Given the description of an element on the screen output the (x, y) to click on. 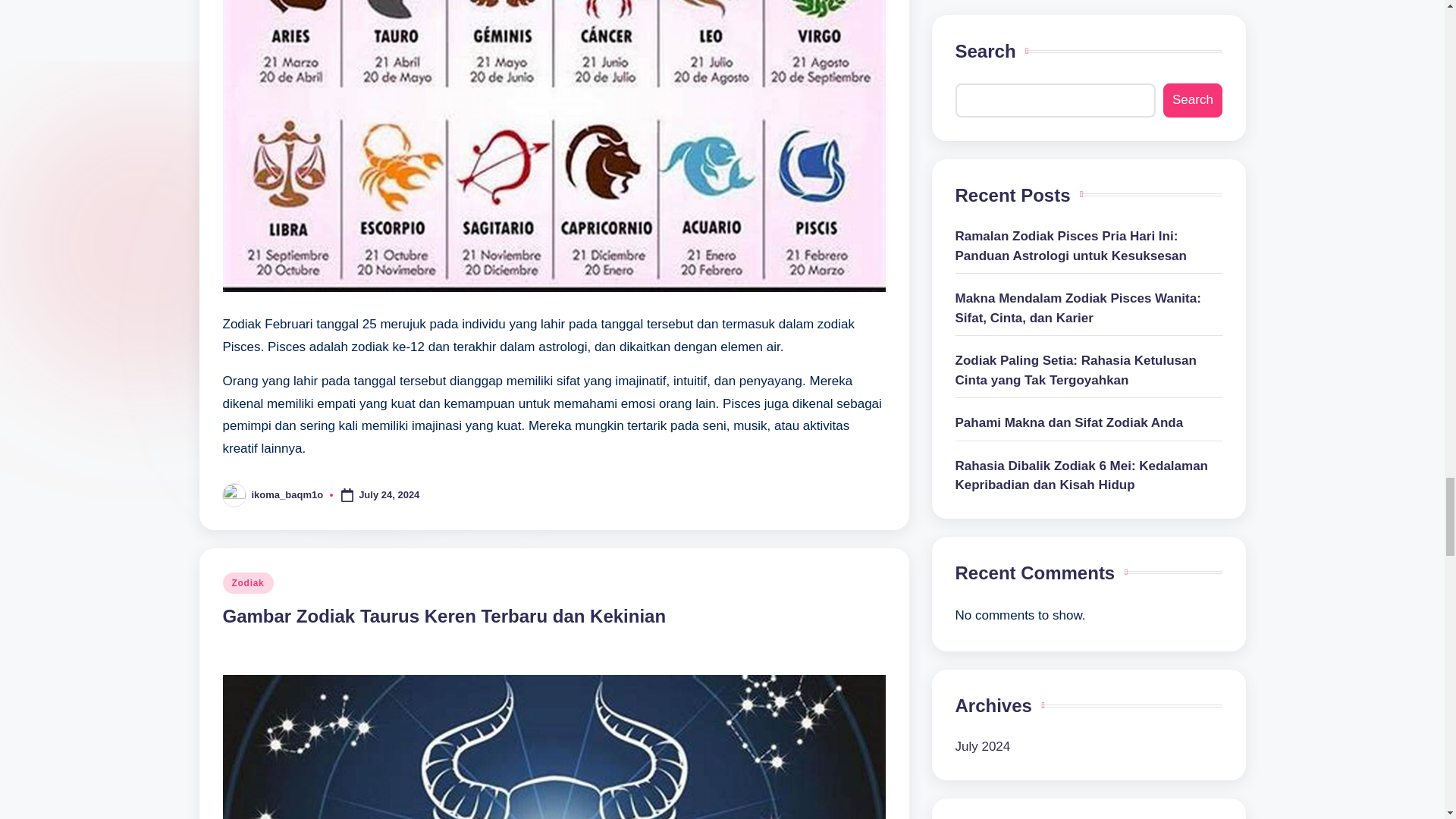
Gambar Zodiak Taurus Keren Terbaru dan Kekinian (444, 616)
